Given the description of an element on the screen output the (x, y) to click on. 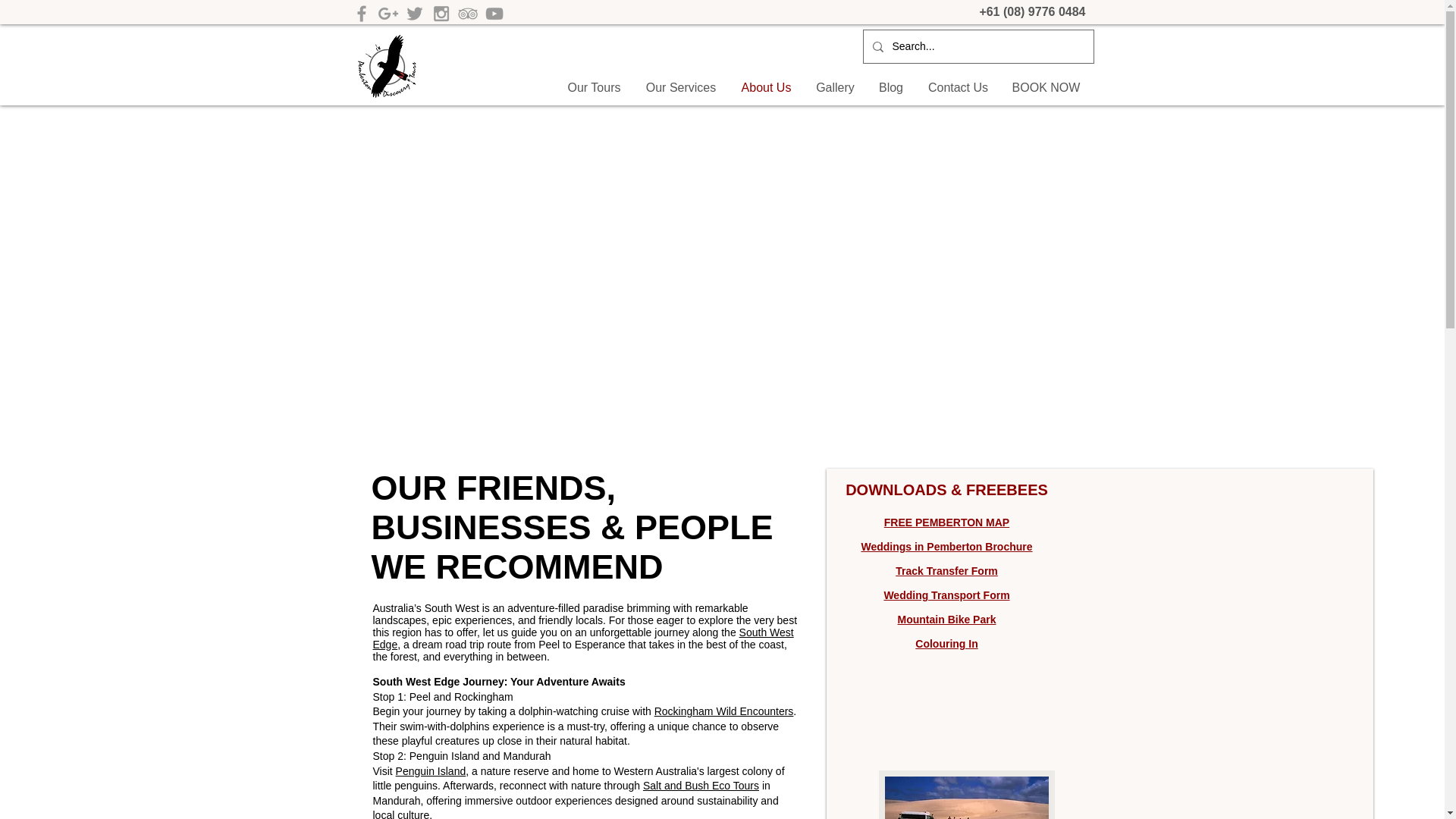
Our Services (681, 87)
Penguin Island (430, 770)
Salt and Bush Eco Tours (700, 785)
Blog (890, 87)
Our Tours (593, 87)
Gallery (834, 87)
About Us (765, 87)
South West Edge (582, 638)
The ultimate tour in the Southern Forests (387, 66)
BOOK NOW (1046, 87)
